Given the description of an element on the screen output the (x, y) to click on. 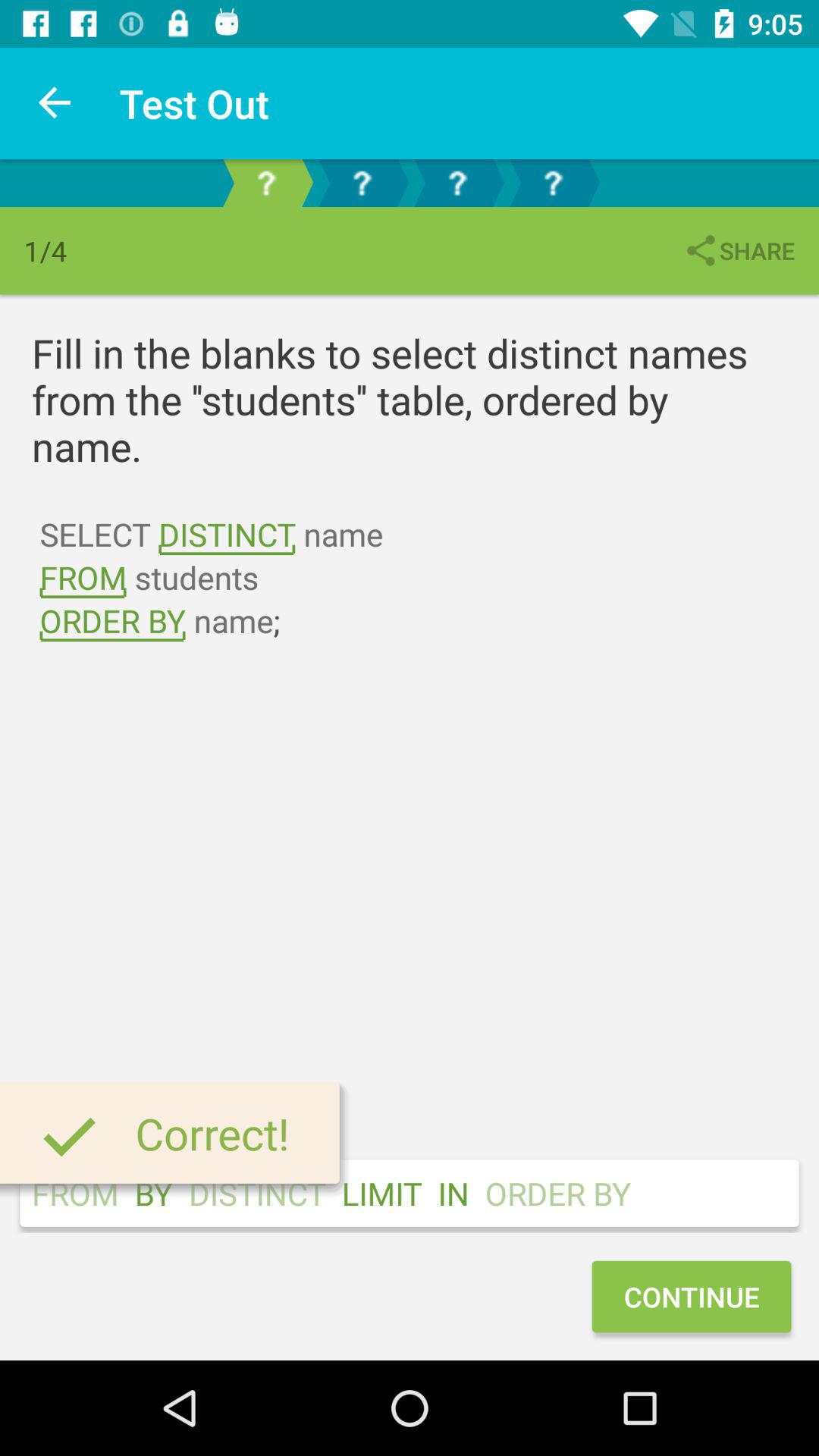
go to the next section (361, 183)
